Given the description of an element on the screen output the (x, y) to click on. 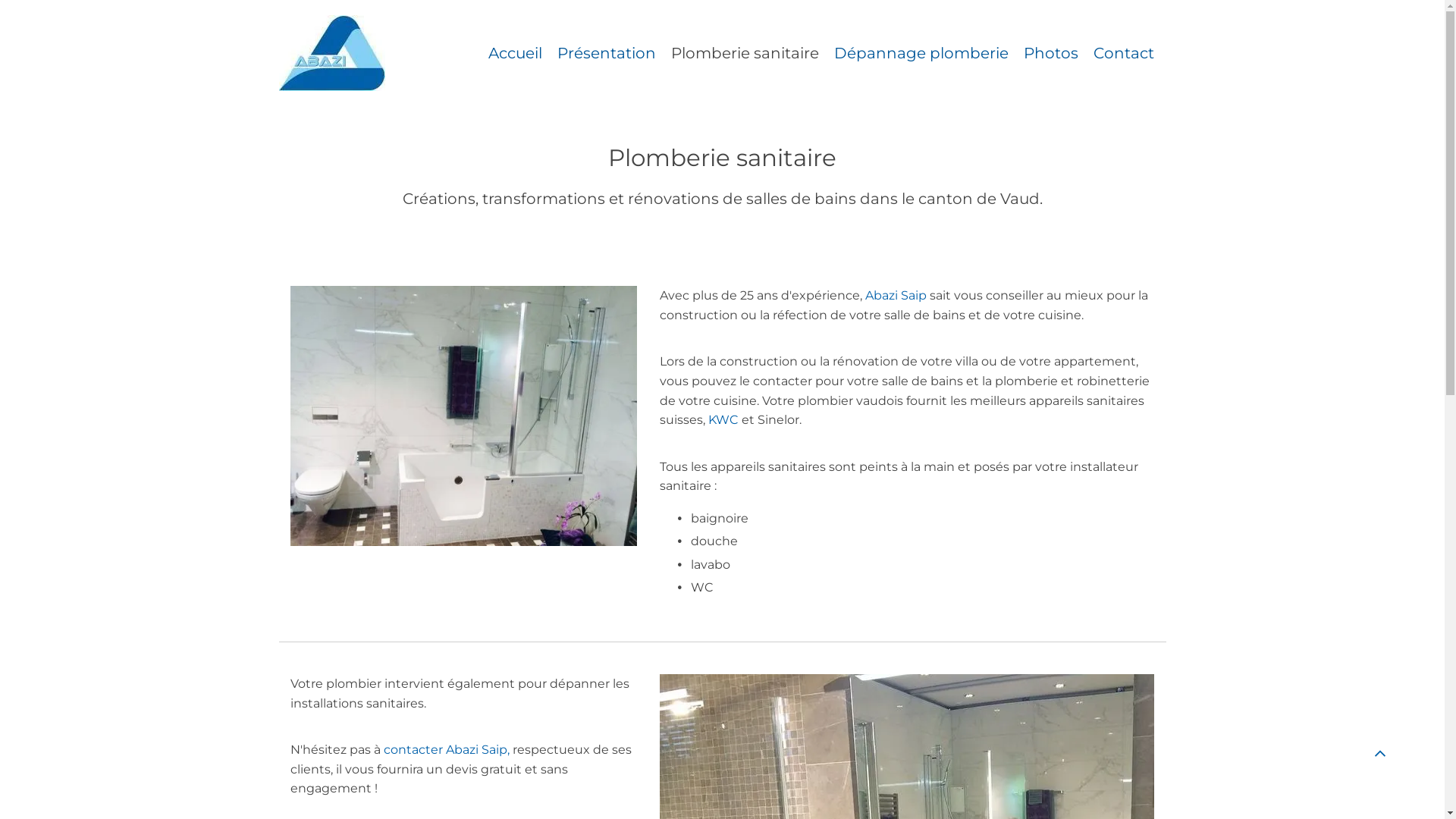
Photos Element type: text (1050, 53)
Contact Element type: text (1123, 53)
Abazi Saip Element type: text (895, 295)
Plomberie sanitaire Element type: text (745, 53)
Accueil Element type: text (515, 53)
KWC Element type: text (723, 419)
contacter Abazi Saip, Element type: text (446, 749)
